Given the description of an element on the screen output the (x, y) to click on. 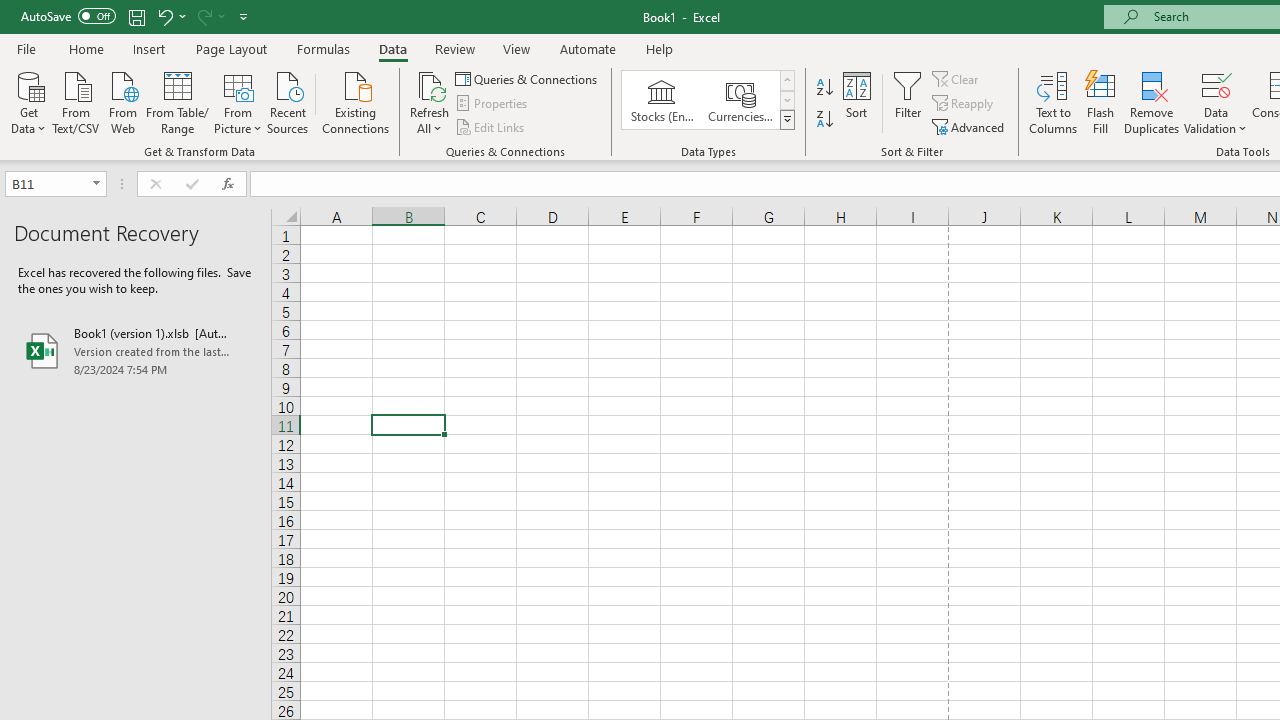
Help (660, 48)
Data Validation... (1215, 84)
From Picture (238, 101)
Row up (786, 79)
Data (392, 48)
Advanced... (970, 126)
Open (96, 183)
Review (454, 48)
Properties (492, 103)
Data Validation... (1215, 102)
Queries & Connections (527, 78)
Get Data (28, 101)
